Given the description of an element on the screen output the (x, y) to click on. 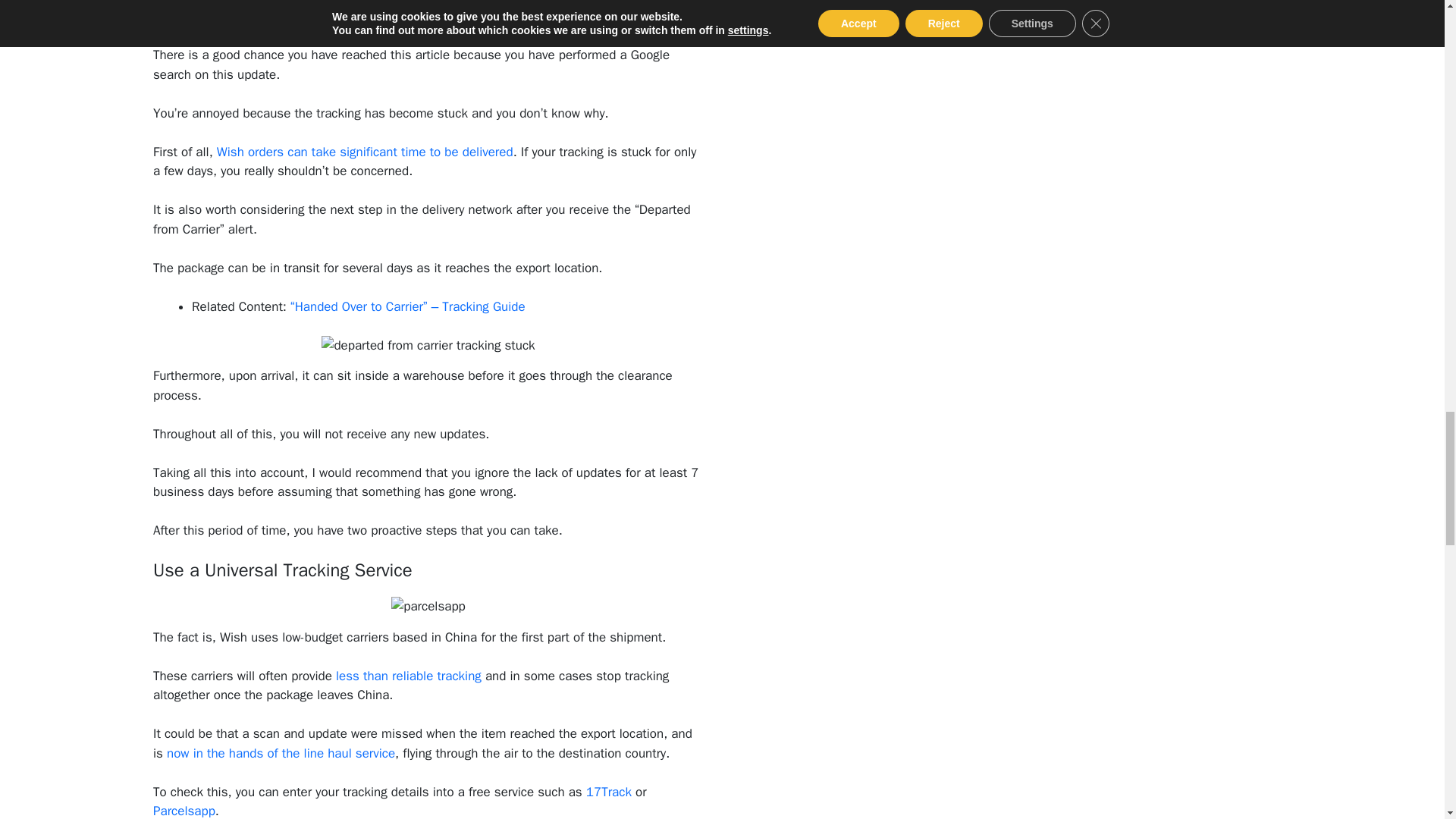
17Track (608, 791)
Parcelsapp (183, 811)
less than reliable tracking (408, 675)
now in the hands of the line haul service (280, 753)
Wish orders can take significant time to be delivered (364, 151)
